Given the description of an element on the screen output the (x, y) to click on. 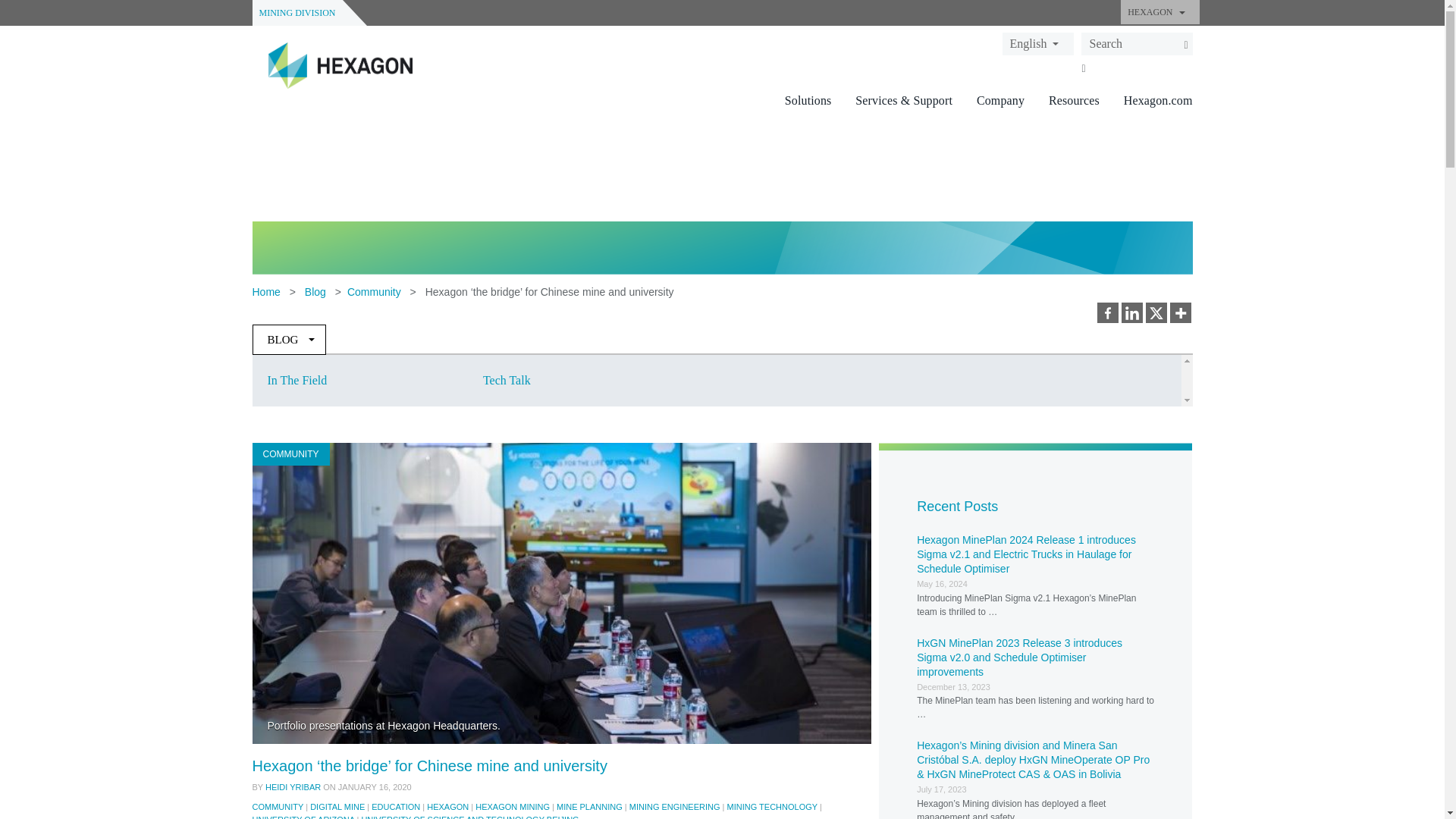
More (1180, 312)
HEXAGON (1159, 12)
Linkedin (1131, 312)
Posts by Heidi Yribar (292, 786)
Facebook (1107, 312)
English (1038, 42)
X (1155, 312)
